Given the description of an element on the screen output the (x, y) to click on. 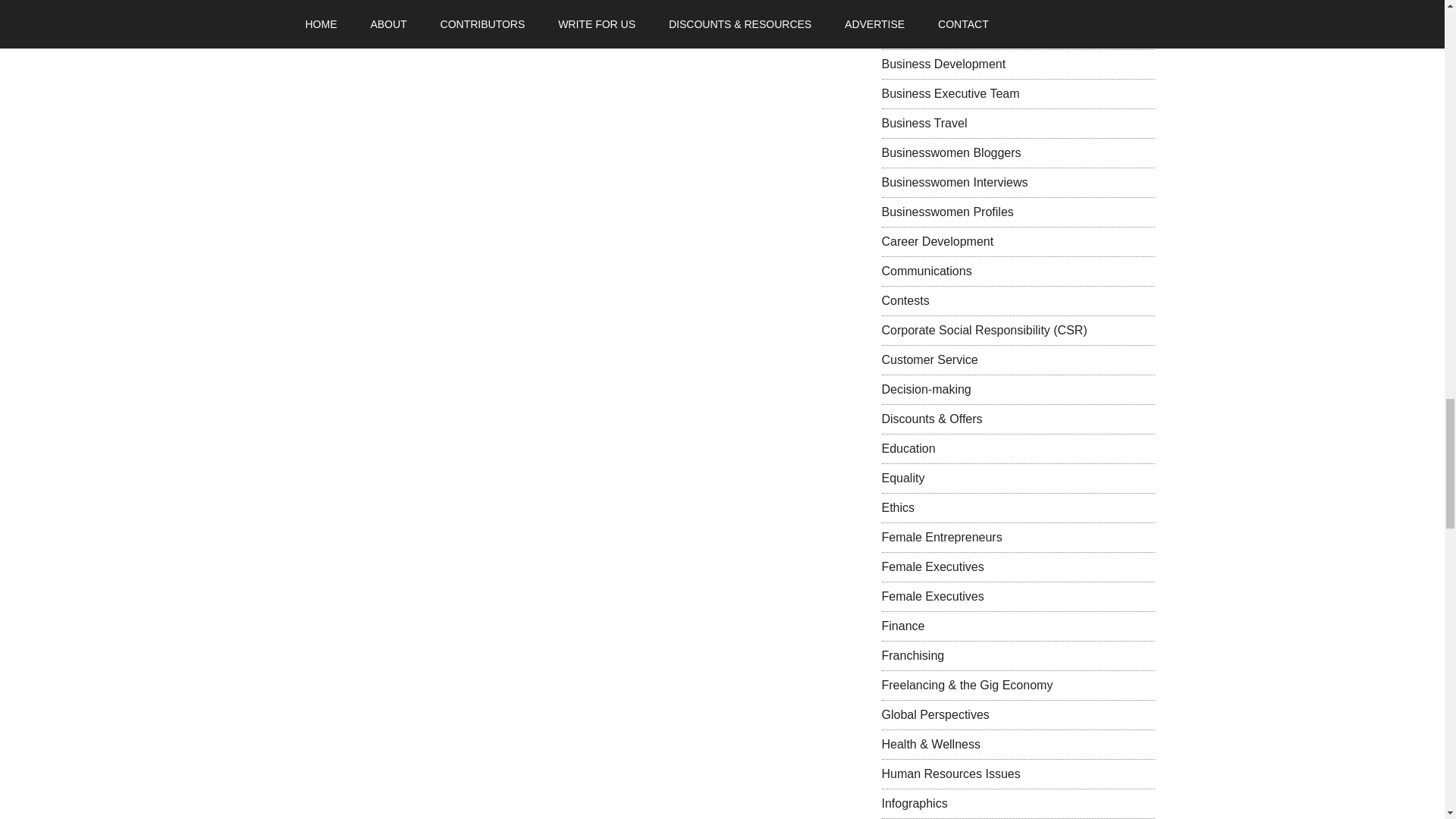
Businesswomen Bloggers (950, 152)
Business Development (943, 63)
Books for Businesswomen (952, 33)
Businesswomen Interviews (953, 182)
Board of Directors (929, 5)
Business Executive Team (949, 92)
Businesswomen Profiles (946, 211)
Business Travel (923, 123)
Career Development (936, 241)
